Given the description of an element on the screen output the (x, y) to click on. 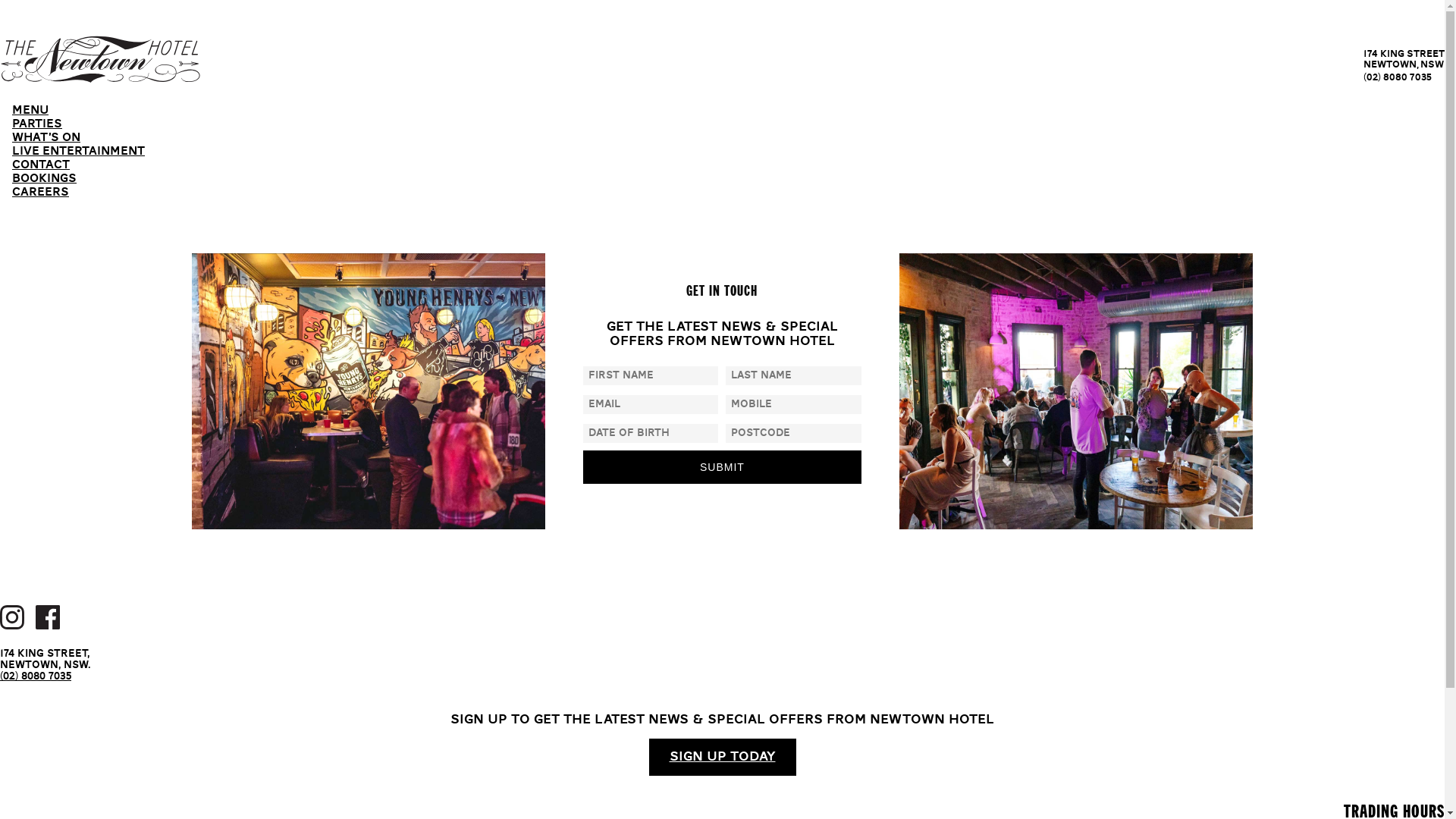
PARTIES Element type: text (36, 124)
BOOKINGS Element type: text (44, 179)
SIGN UP TODAY Element type: text (722, 756)
(02) 8080 7035 Element type: text (35, 676)
CONTACT Element type: text (40, 165)
CAREERS Element type: text (40, 193)
LIVE ENTERTAINMENT Element type: text (78, 152)
Submit Element type: text (722, 466)
MENU Element type: text (30, 111)
